Given the description of an element on the screen output the (x, y) to click on. 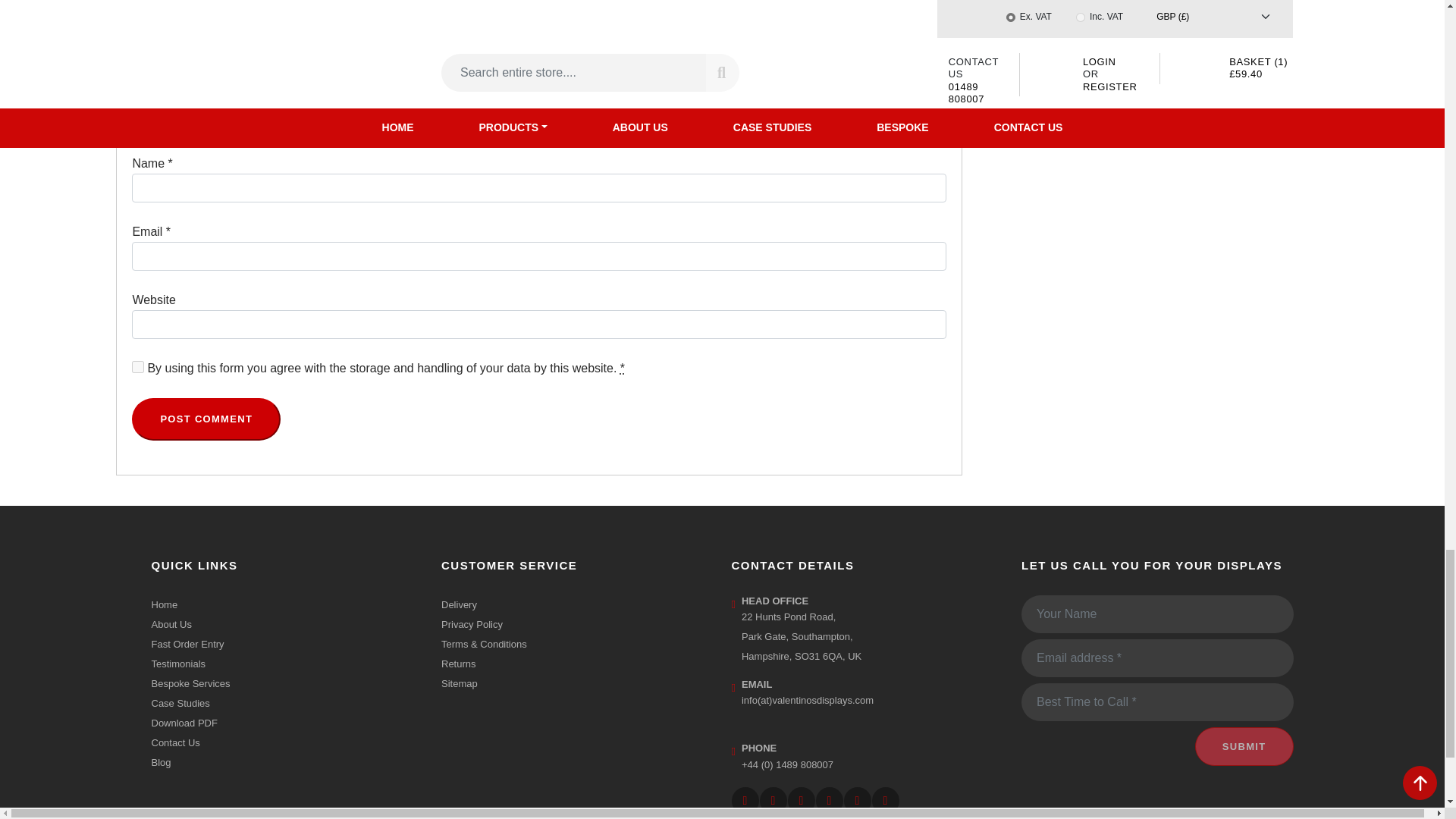
Post Comment (206, 419)
1 (138, 367)
